Given the description of an element on the screen output the (x, y) to click on. 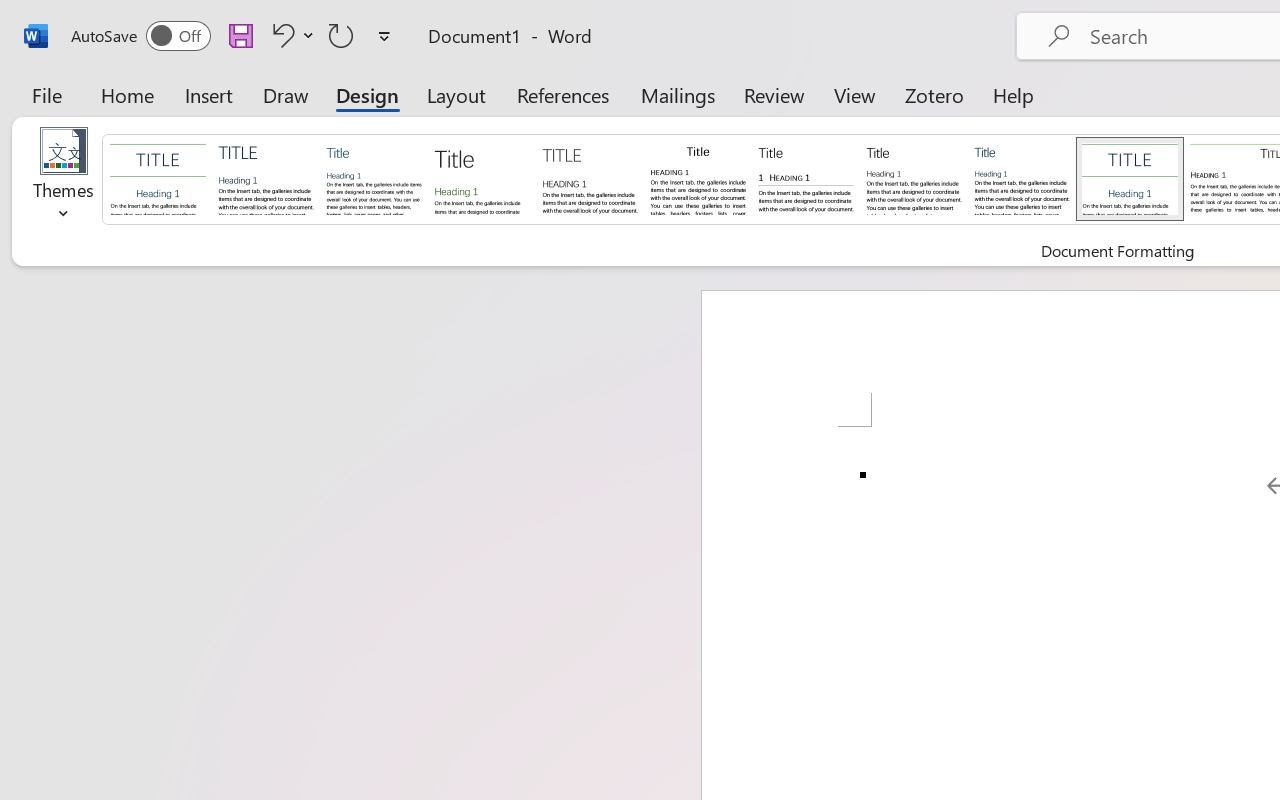
Black & White (Capitalized) (589, 178)
Centered (1130, 178)
Undo Apply Quick Style Set (280, 35)
Document (157, 178)
Black & White (Word 2013) (913, 178)
Casual (1021, 178)
